Given the description of an element on the screen output the (x, y) to click on. 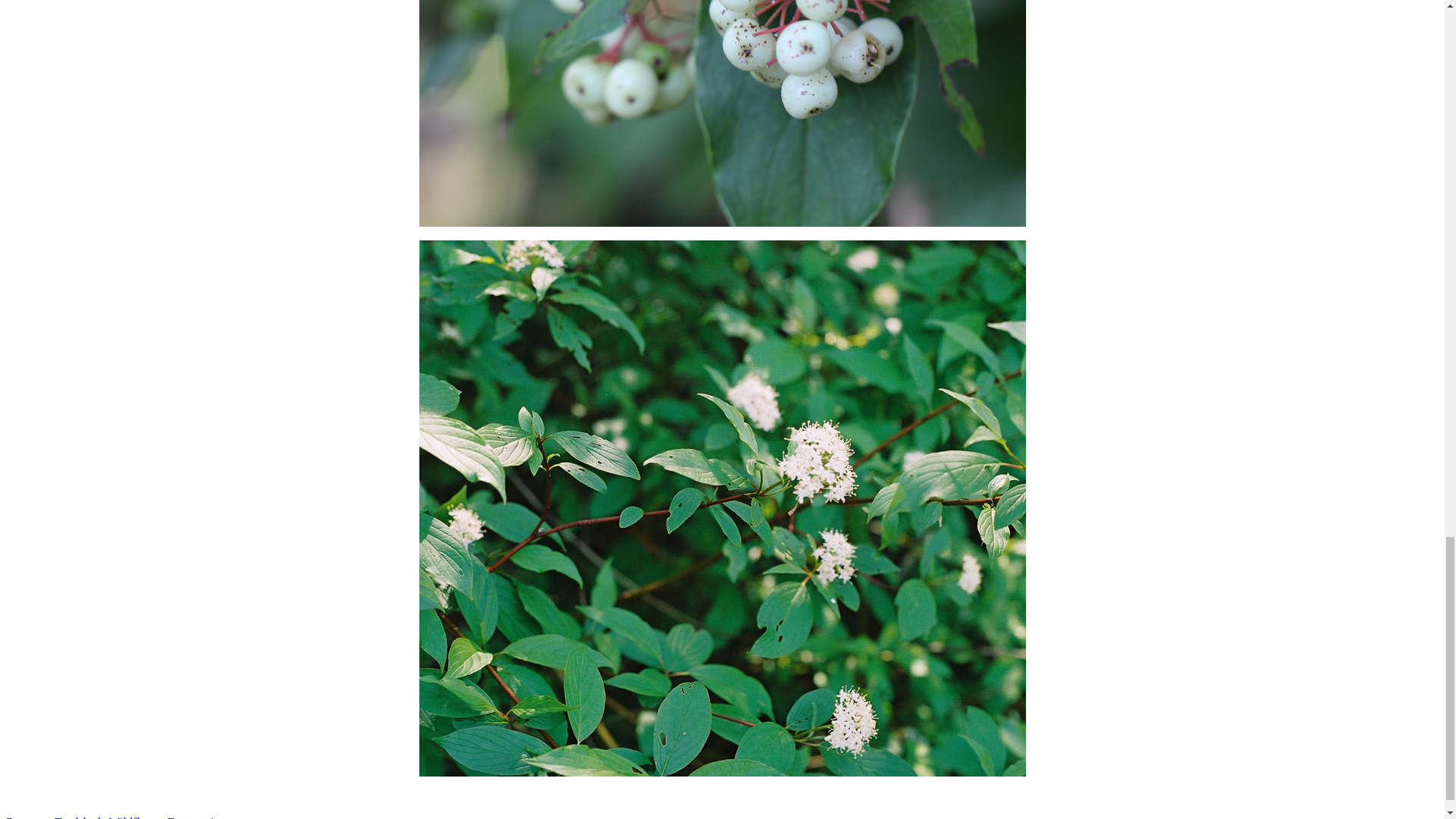
Return to Toadshade Wildflower Farm main page (125, 817)
